Given the description of an element on the screen output the (x, y) to click on. 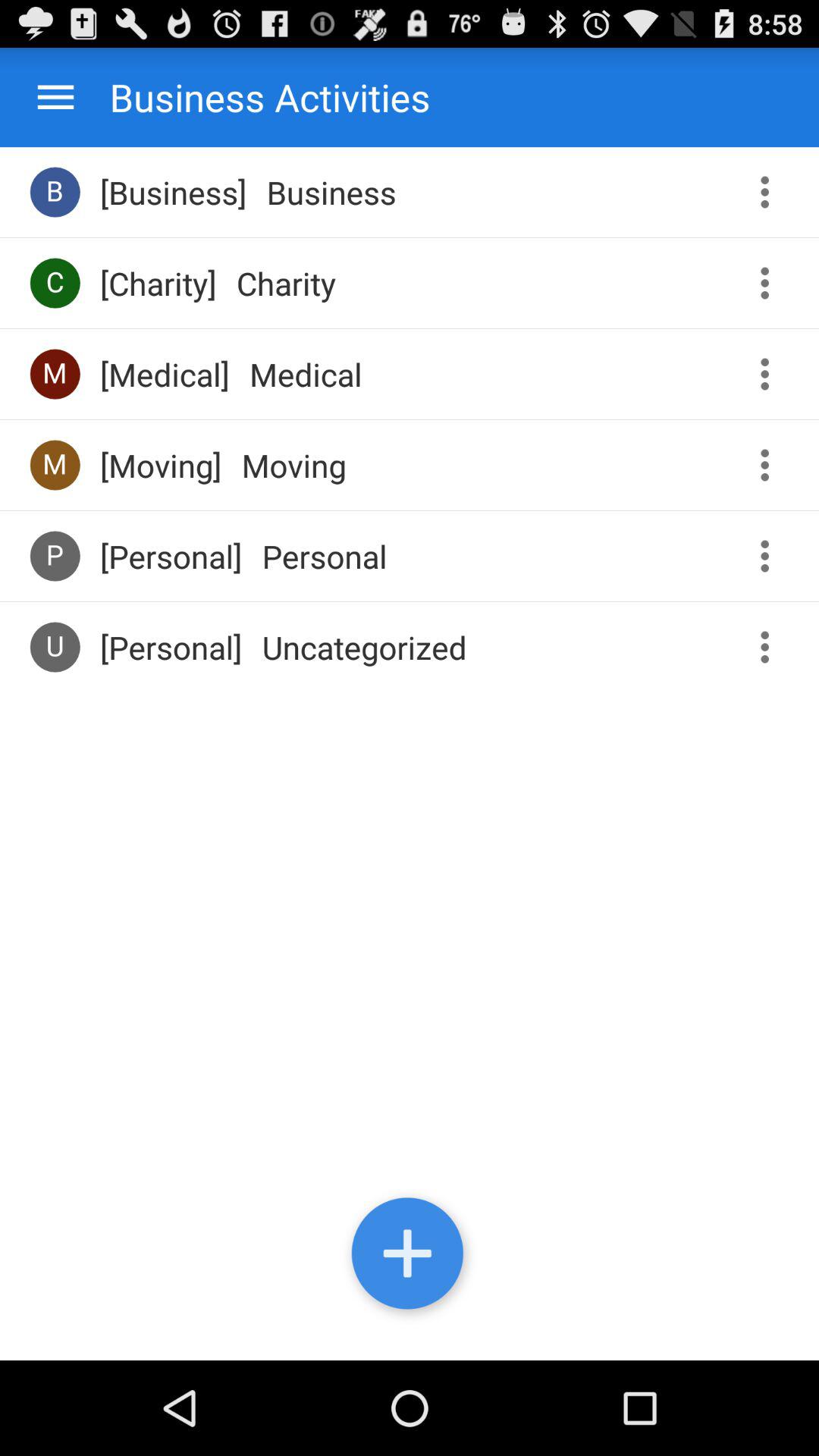
show menu (770, 465)
